Given the description of an element on the screen output the (x, y) to click on. 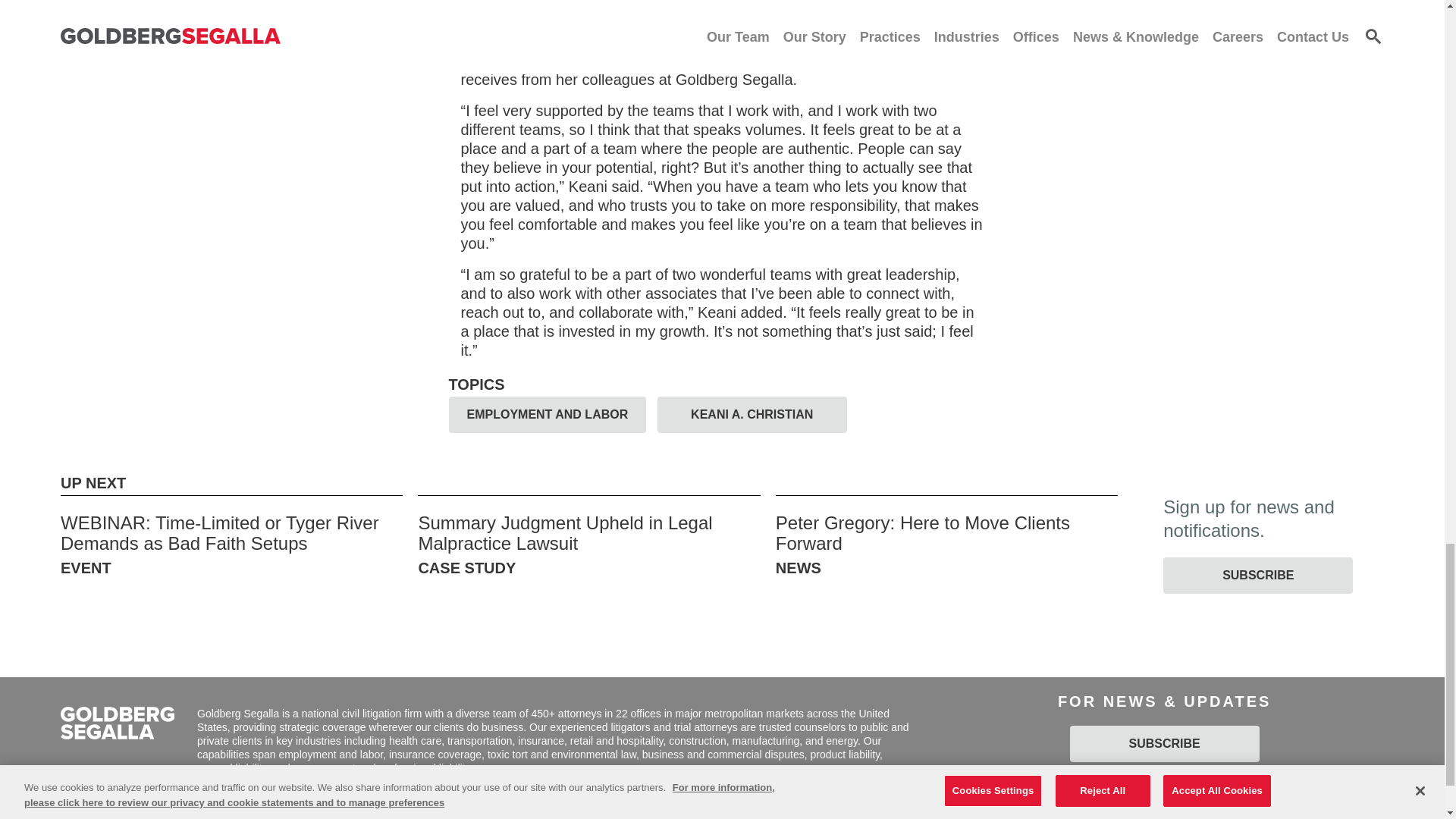
KEANI A. CHRISTIAN (752, 414)
SUBSCRIBE (1164, 743)
SUBSCRIBE (1257, 575)
Peter Gregory: Here to Move Clients Forward (923, 533)
Summary Judgment Upheld in Legal Malpractice Lawsuit (564, 533)
EMPLOYMENT AND LABOR (547, 414)
